Given the description of an element on the screen output the (x, y) to click on. 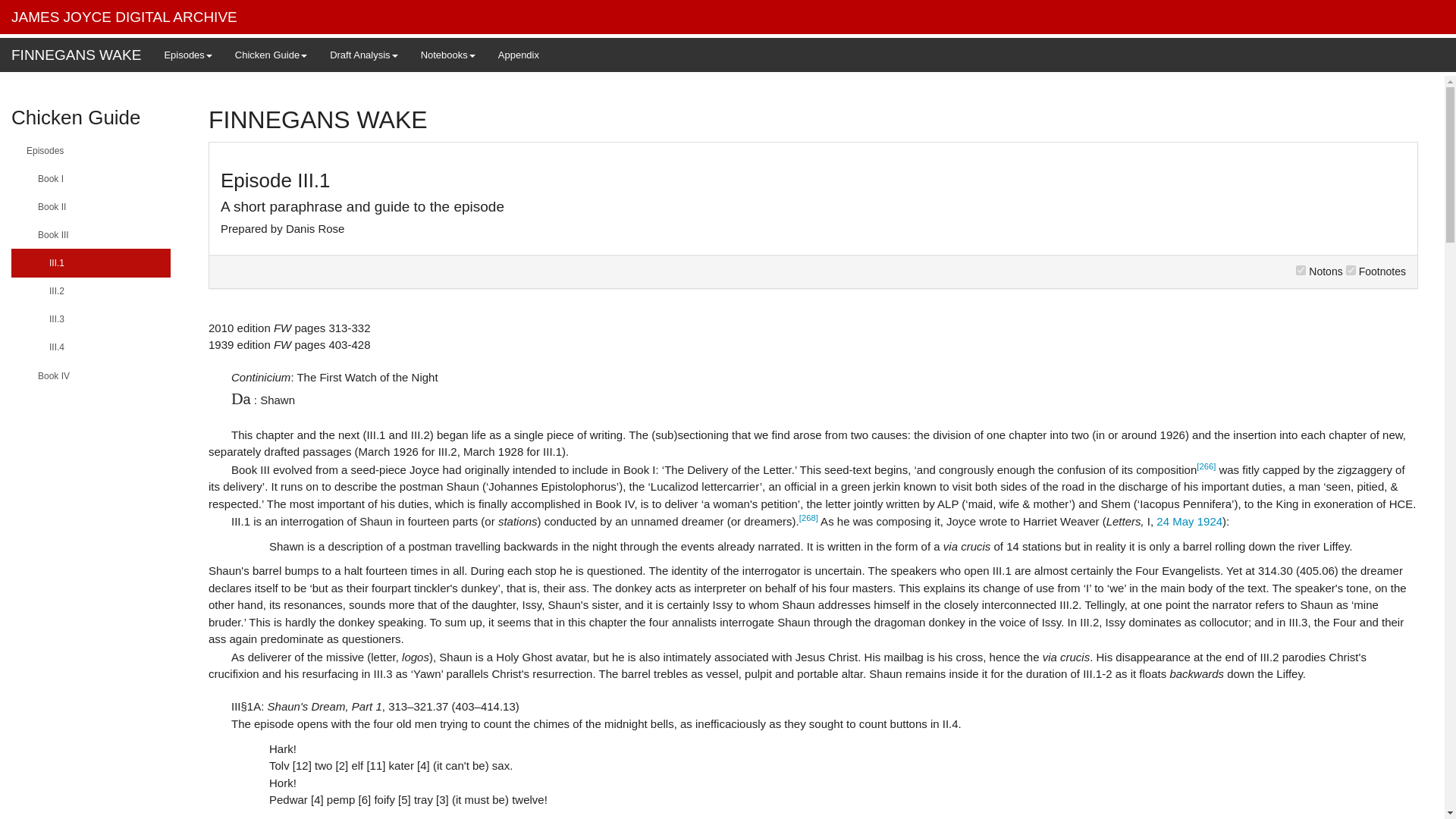
Episodes (187, 54)
FINNEGANS WAKE (76, 54)
on (1300, 270)
Chicken Guide (271, 54)
on (1350, 270)
